Given the description of an element on the screen output the (x, y) to click on. 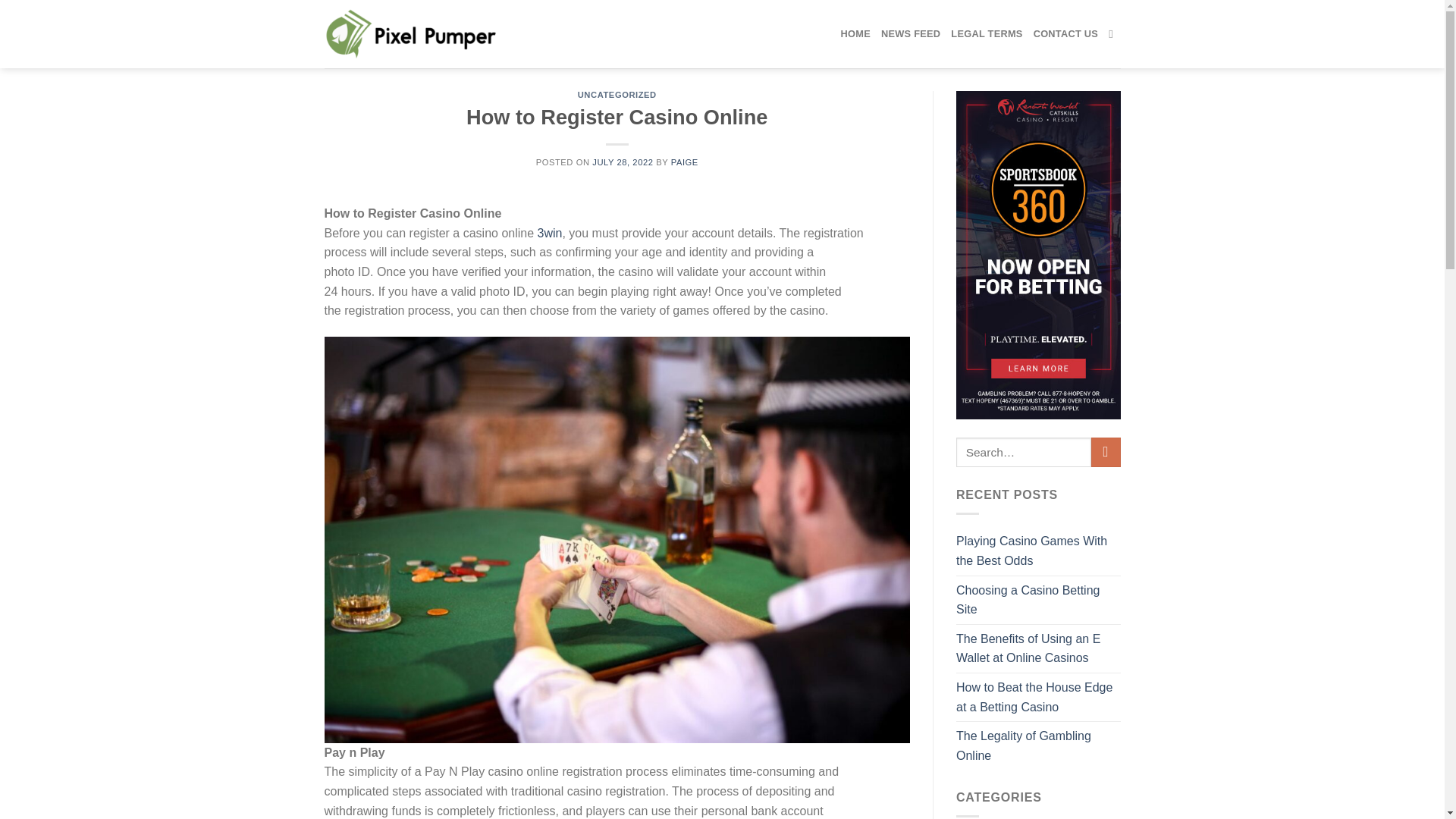
How to Beat the House Edge at a Betting Casino (1038, 697)
CONTACT US (1066, 33)
UNCATEGORIZED (617, 94)
NEWS FEED (910, 33)
Choosing a Casino Betting Site (1038, 600)
JULY 28, 2022 (622, 162)
PAIGE (684, 162)
The Benefits of Using an E Wallet at Online Casinos (1038, 648)
HOME (855, 33)
3win (549, 232)
Pixel Pumper - Feel The Royalty Here. (412, 33)
Playing Casino Games With the Best Odds  (1038, 550)
LEGAL TERMS (986, 33)
The Legality of Gambling Online (1038, 745)
